Given the description of an element on the screen output the (x, y) to click on. 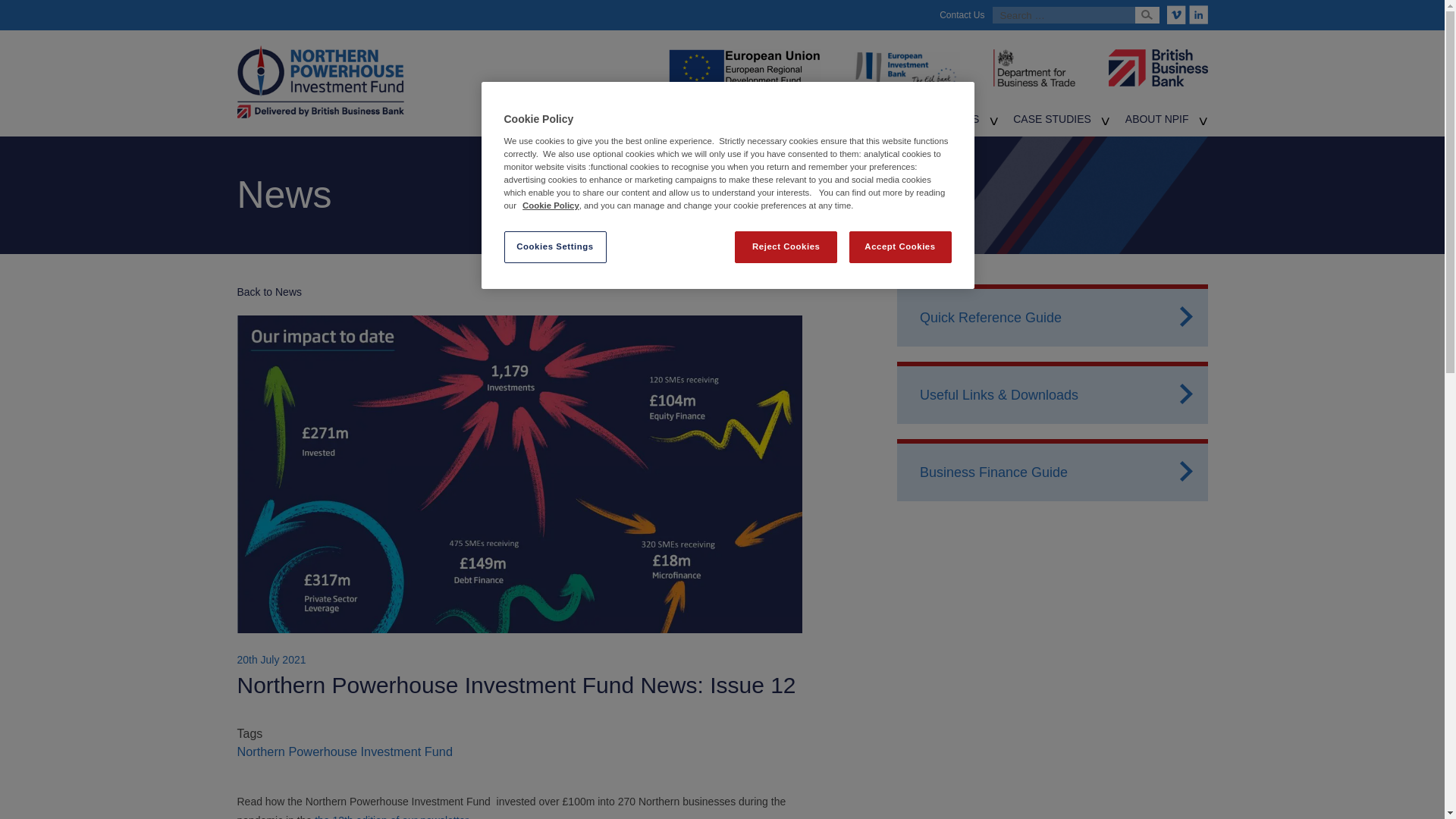
NEWS (962, 119)
Contact Us (961, 14)
CASE STUDIES (1051, 119)
GROWTH HUBS (766, 119)
FUNDS AVAILABLE (664, 119)
BUSINESS ADVISERS (877, 119)
ABOUT NPIF (1157, 119)
